Given the description of an element on the screen output the (x, y) to click on. 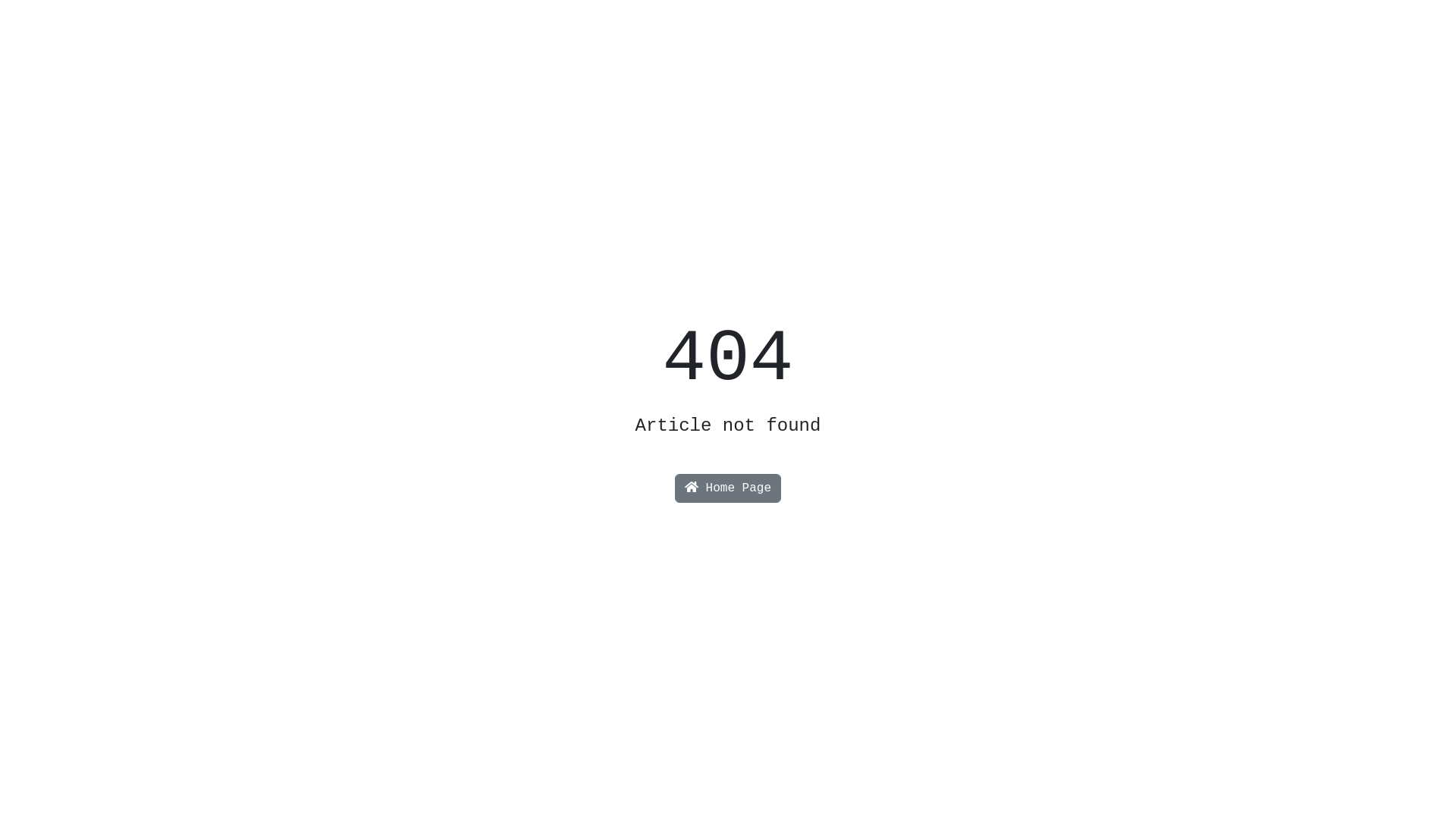
Home Page Element type: text (727, 487)
